Given the description of an element on the screen output the (x, y) to click on. 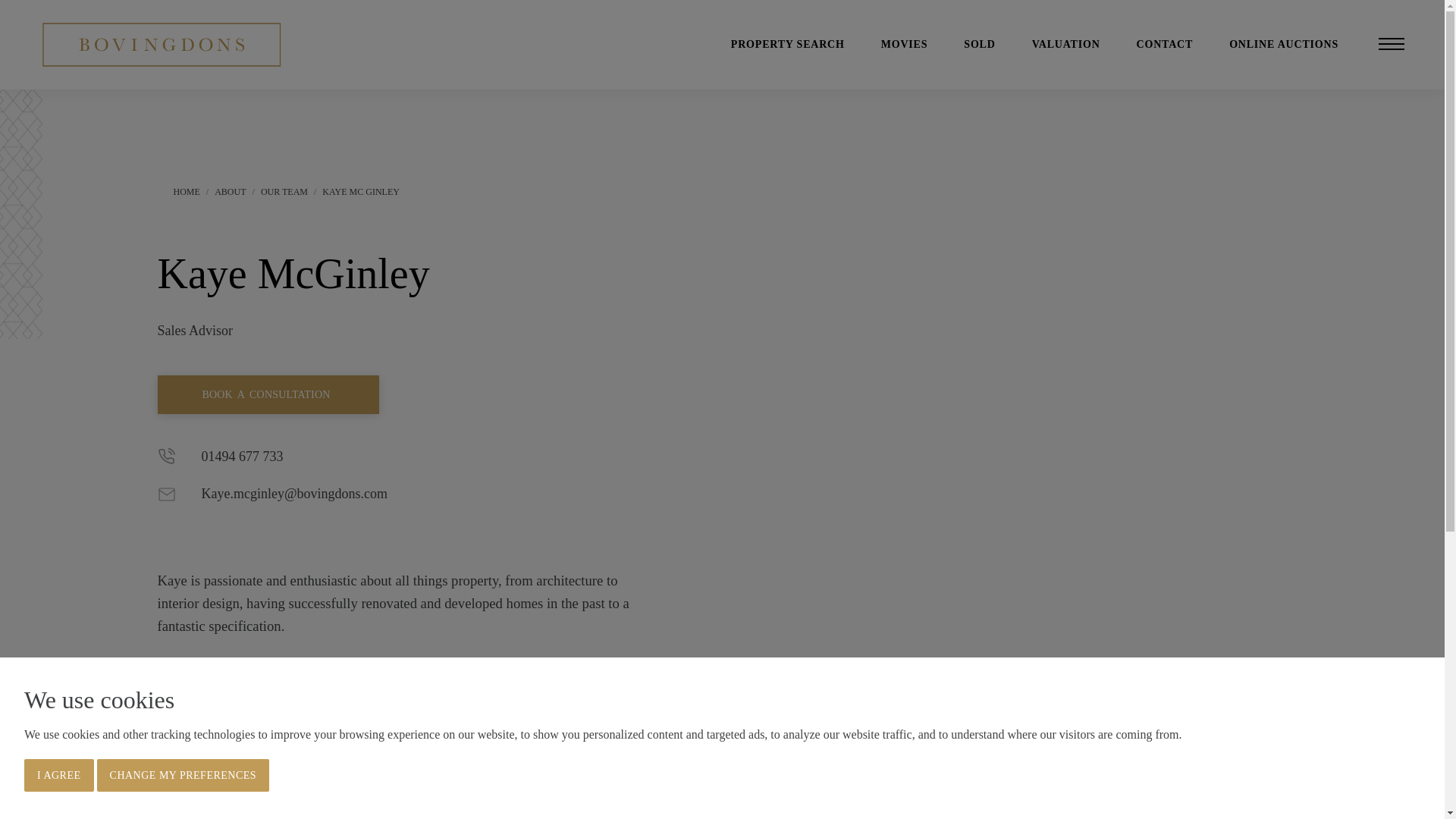
SOLD (978, 44)
CONTACT (1165, 44)
ONLINE AUCTIONS (1283, 44)
I AGREE (59, 775)
MOVIES (904, 44)
CHANGE MY PREFERENCES (183, 775)
PROPERTY SEARCH (787, 44)
VALUATION (1066, 44)
